Given the description of an element on the screen output the (x, y) to click on. 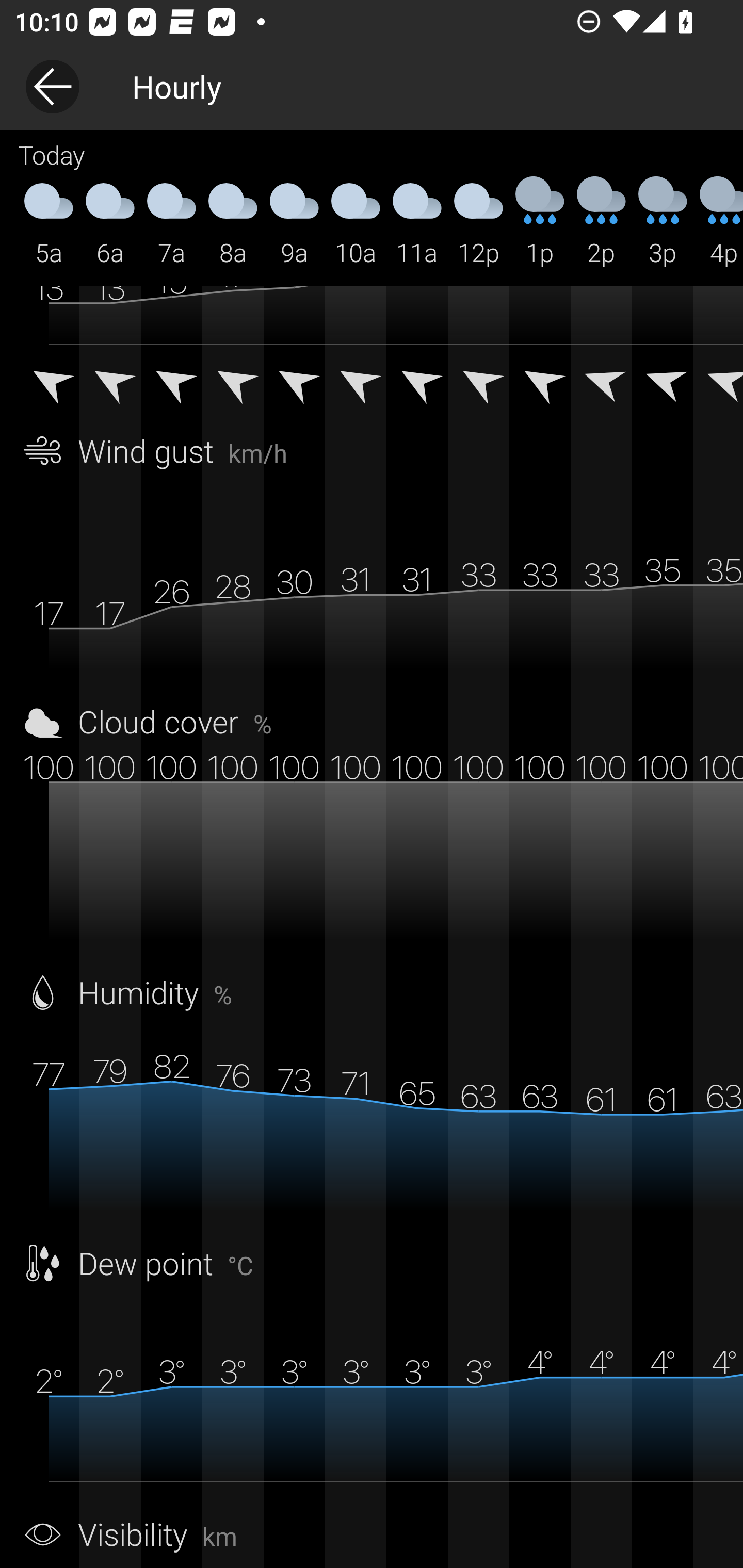
5a (48, 222)
6a (110, 222)
7a (171, 222)
8a (232, 222)
9a (294, 222)
10a (355, 222)
11a (417, 222)
12p (478, 222)
1p (539, 222)
2p (601, 222)
3p (662, 222)
4p (718, 222)
 (48, 379)
 (110, 379)
 (171, 379)
 (232, 379)
 (294, 379)
 (355, 379)
 (417, 379)
 (478, 379)
 (539, 379)
 (601, 379)
 (662, 379)
 (718, 379)
